Given the description of an element on the screen output the (x, y) to click on. 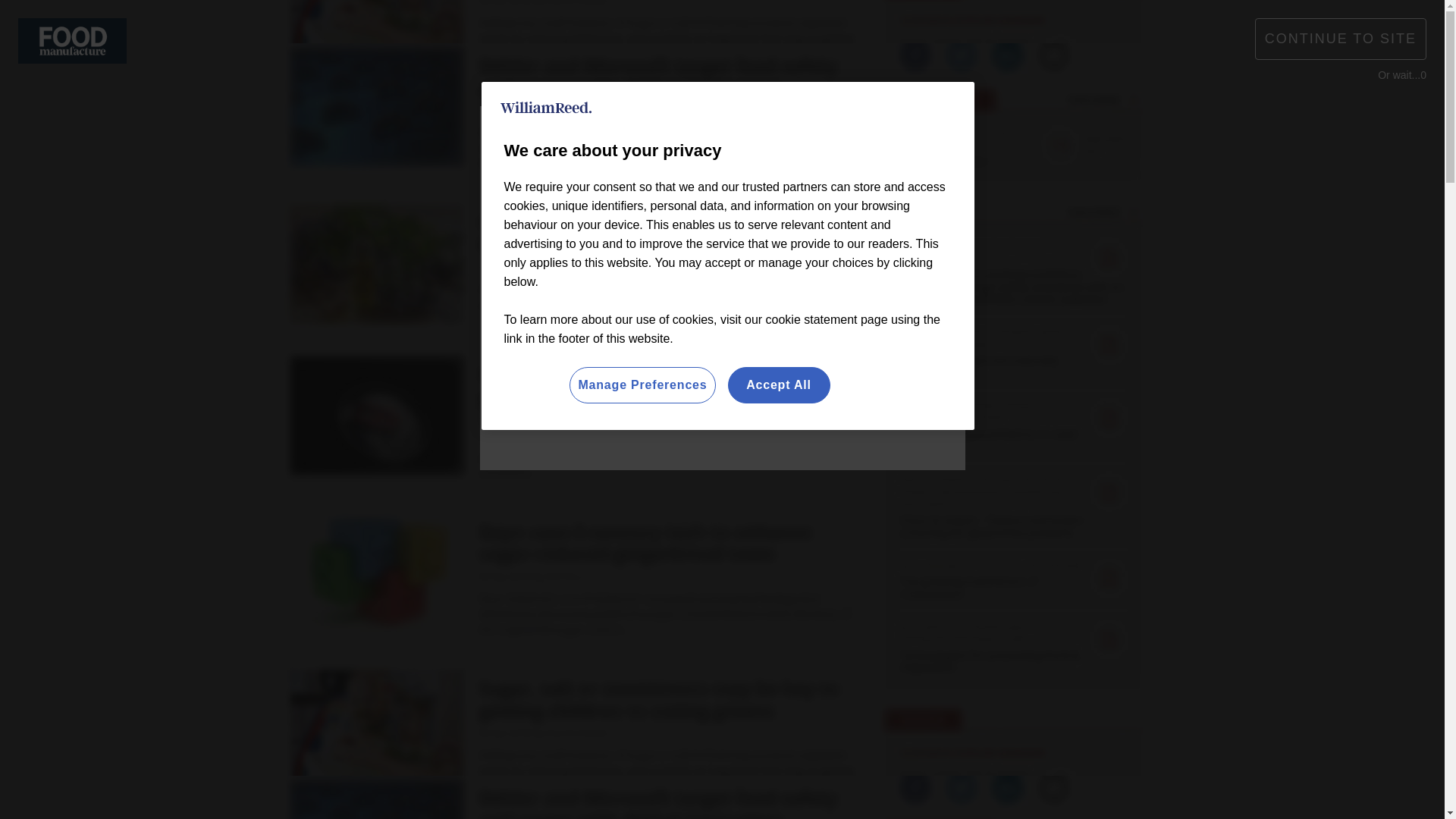
Send (1129, 90)
Expertise (445, 159)
FoodManufacture (71, 39)
William Reed (545, 107)
CONTINUE TO SITE (1340, 38)
Send (1129, 89)
Home (314, 159)
Sign in (1029, 20)
REGISTER (1110, 20)
Trending (370, 159)
Home (313, 159)
My account (1114, 20)
FoodManufacture (367, 89)
